Given the description of an element on the screen output the (x, y) to click on. 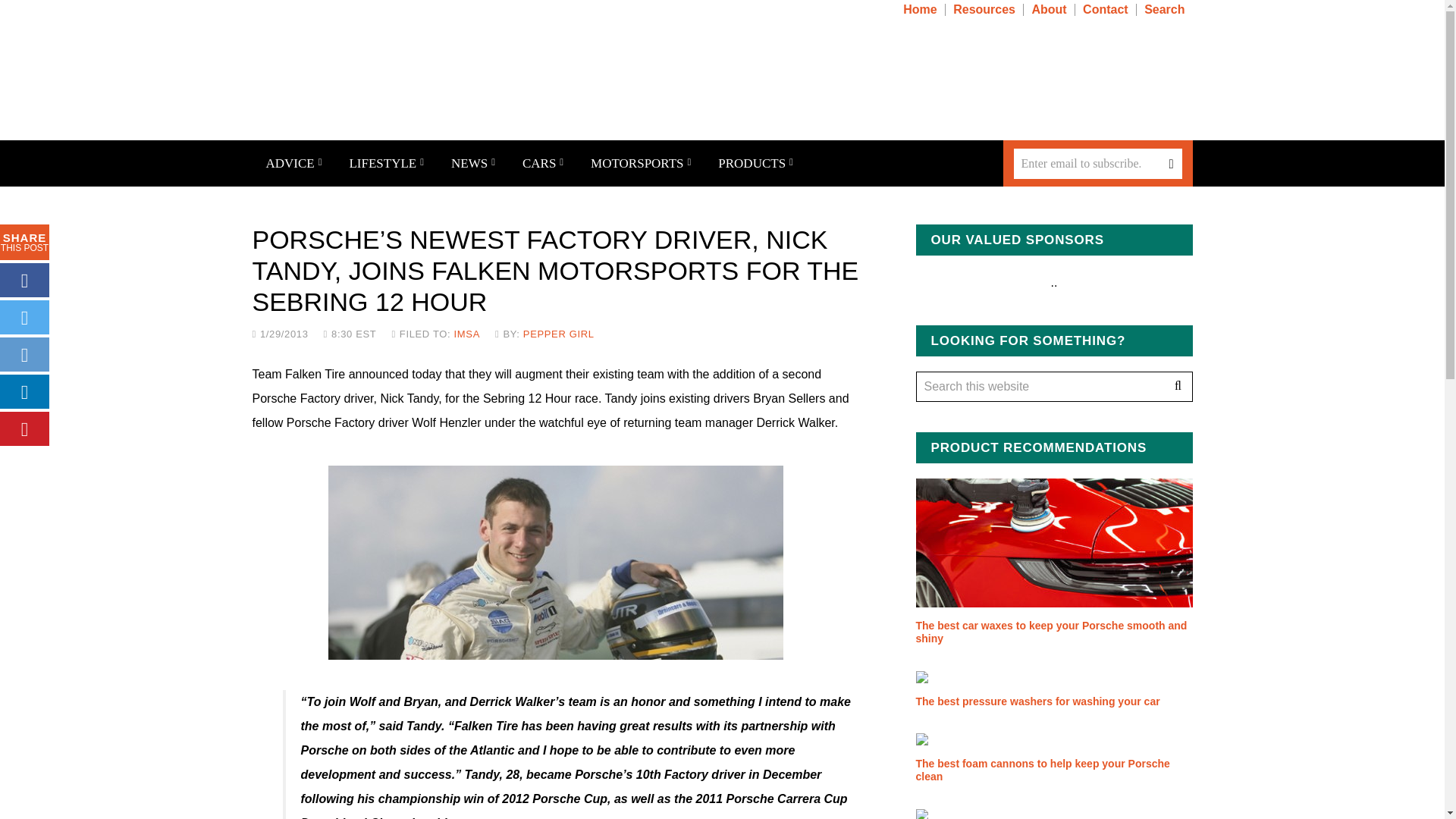
FLATSIXES (415, 78)
About (1050, 9)
Contact (1107, 9)
Search (1166, 9)
LIFESTYLE (386, 163)
NEWS (473, 163)
Resources (986, 9)
Search (1177, 386)
CARS (542, 163)
ADVICE (292, 163)
Home (921, 9)
Search (1177, 386)
